Given the description of an element on the screen output the (x, y) to click on. 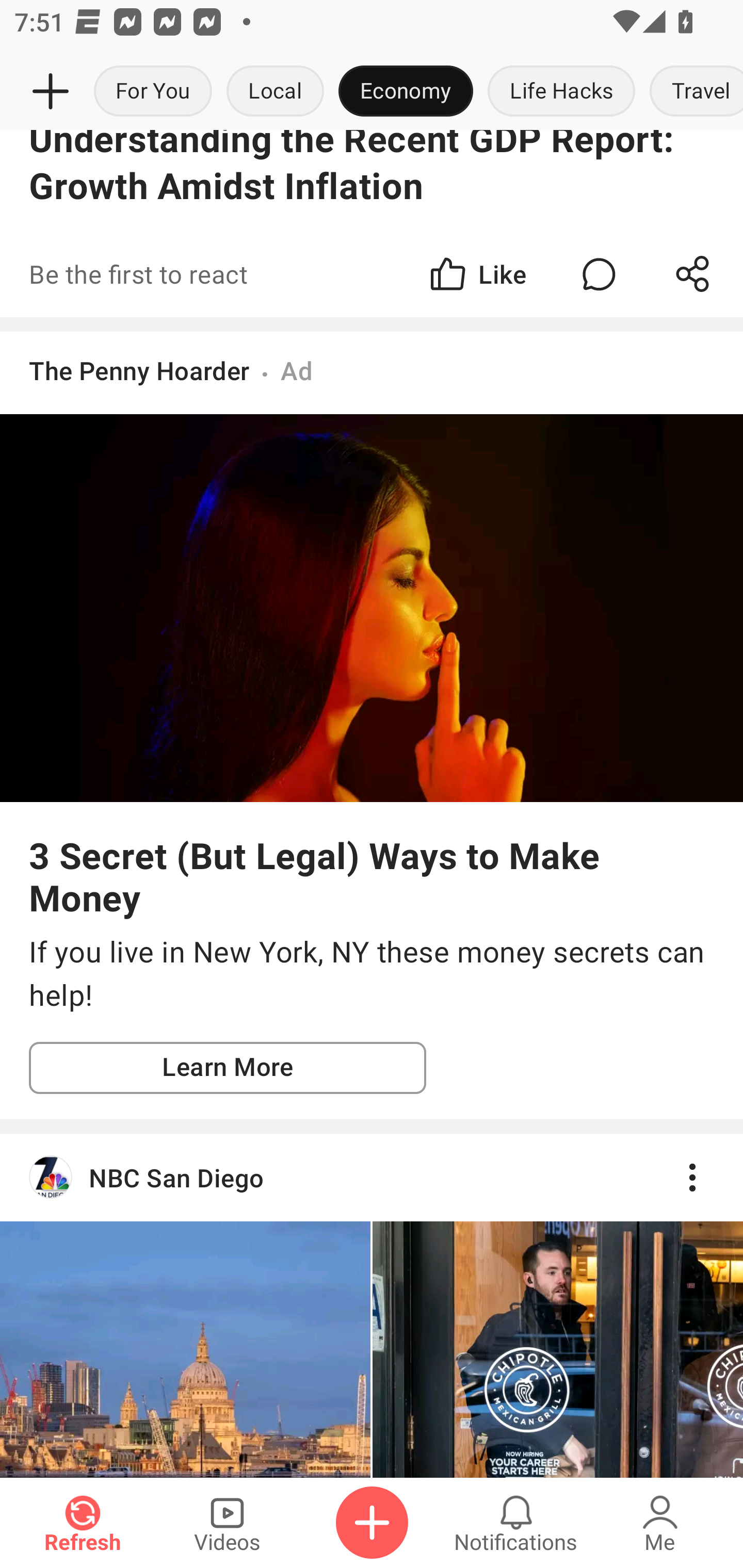
For You (152, 91)
Local (275, 91)
Economy (405, 91)
Life Hacks (561, 91)
Travel (692, 91)
Be the first to react (244, 273)
Like (476, 273)
The Penny Hoarder (138, 369)
3 Secret (But Legal) Ways to Make Money (371, 876)
Learn More (227, 1067)
NBC San Diego (371, 1305)
NBC San Diego (371, 1177)
Videos (227, 1522)
Notifications (516, 1522)
Me (659, 1522)
